Given the description of an element on the screen output the (x, y) to click on. 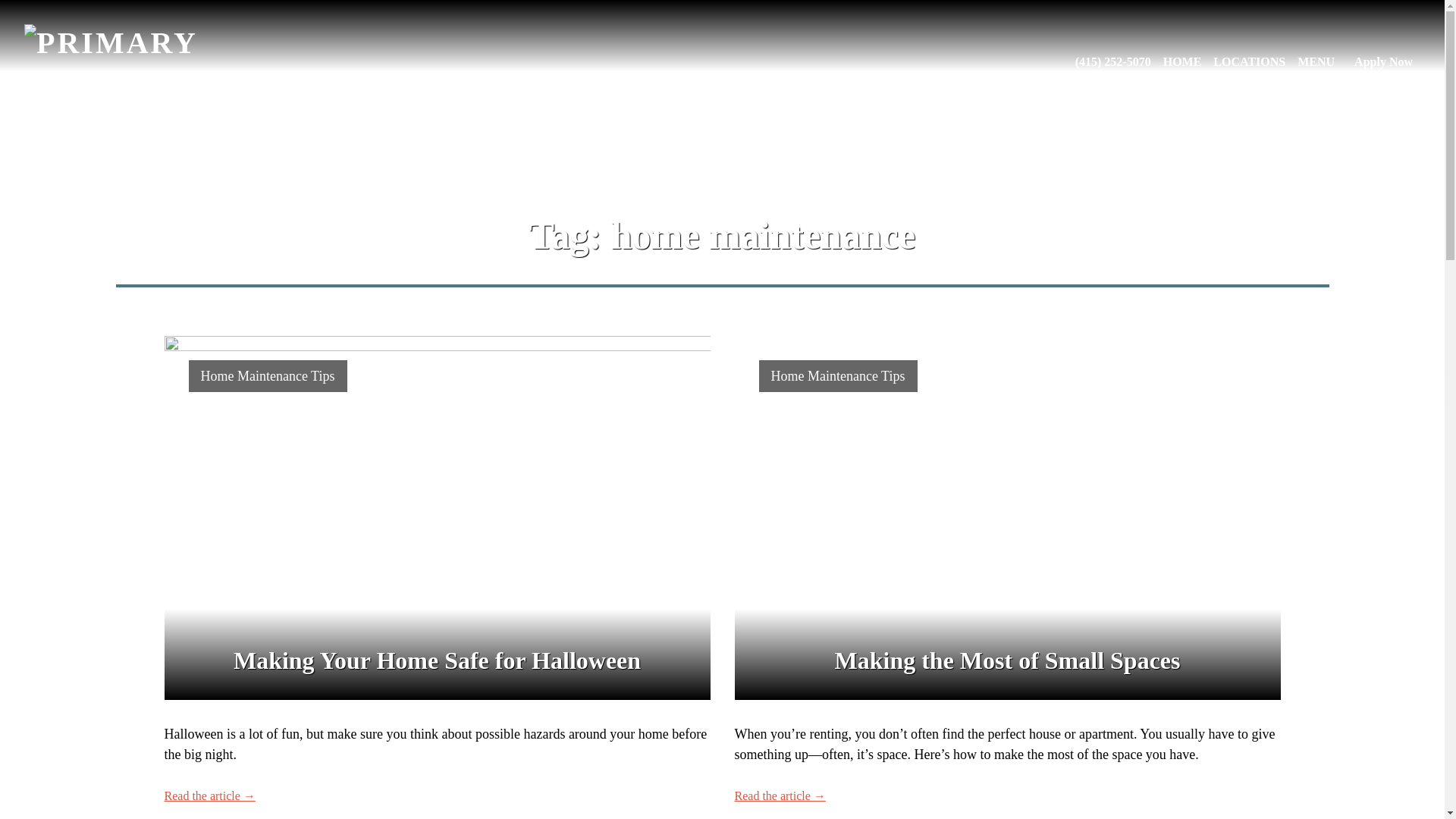
LOCATIONS (1248, 61)
Apply Now (1383, 61)
Home Maintenance Tips (266, 375)
MENU (1316, 61)
HOME (1182, 61)
Home Maintenance Tips (837, 375)
